Given the description of an element on the screen output the (x, y) to click on. 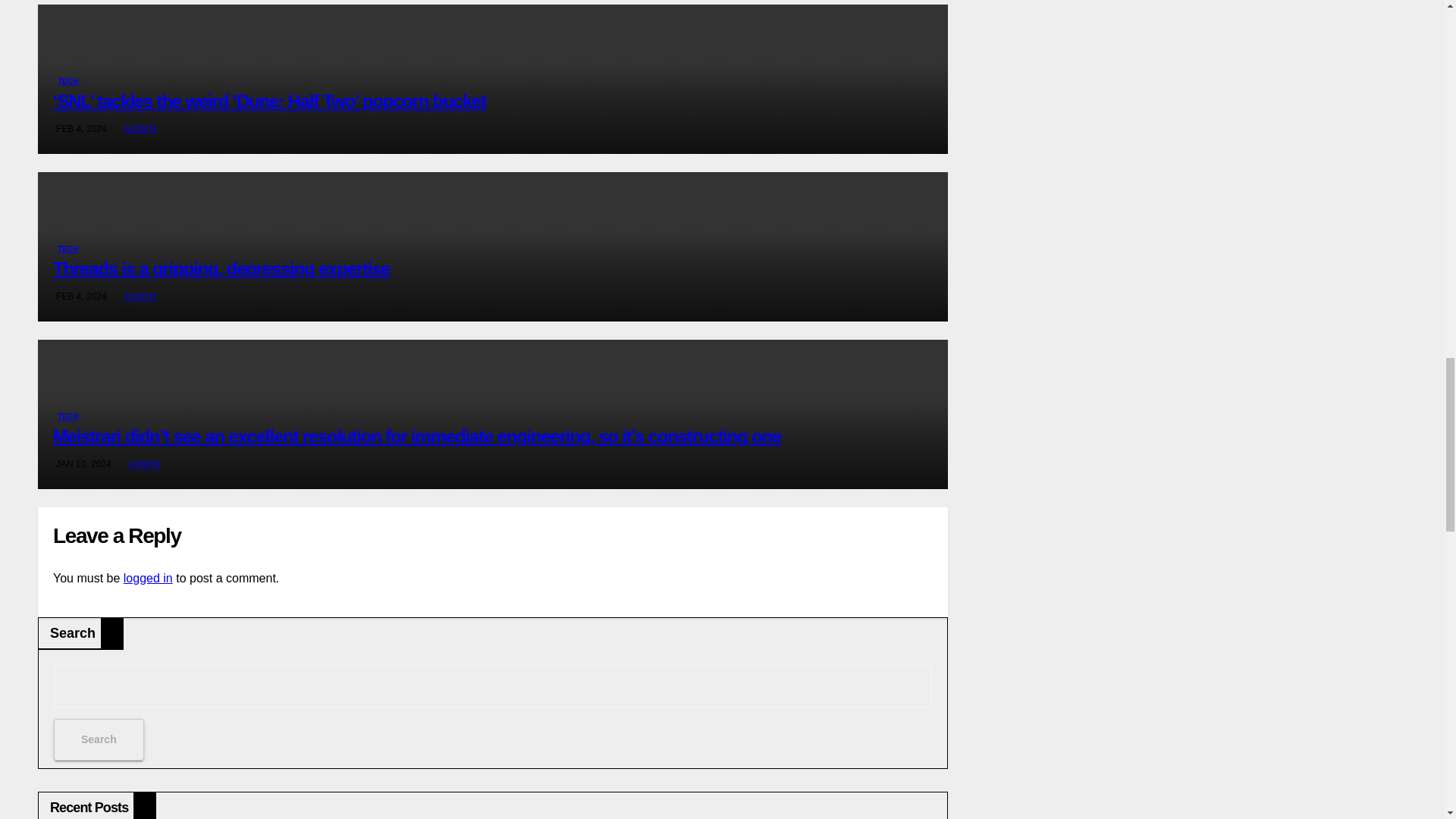
TECH (67, 81)
Permalink to: Threads is a gripping, depressing expertise (221, 268)
